Given the description of an element on the screen output the (x, y) to click on. 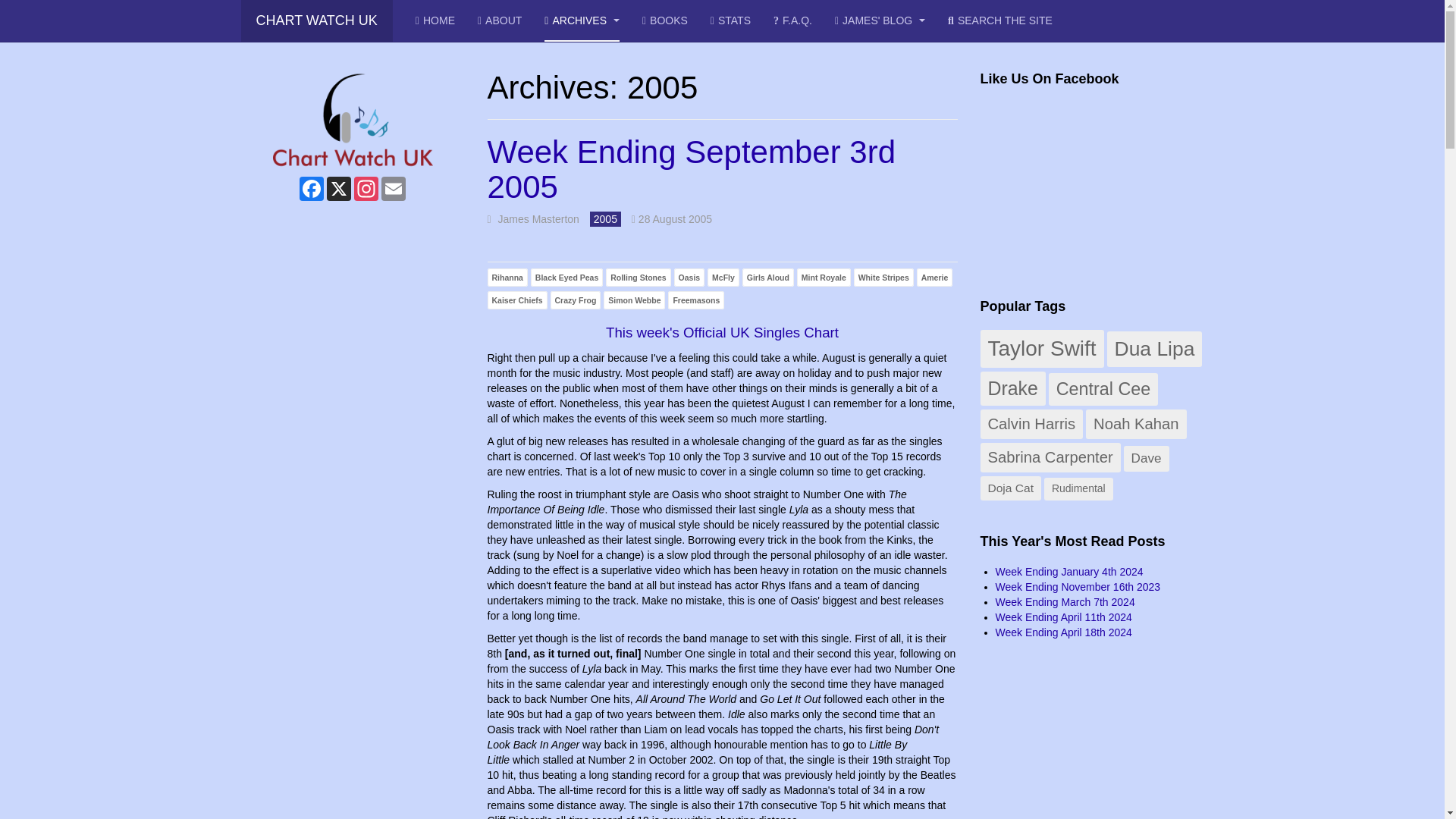
Written by:  (532, 219)
CHART WATCH UK (317, 20)
Category:  (605, 219)
Week Ending September 3rd 2005 (690, 169)
Chart Watch UK (317, 20)
Published:  (671, 219)
